Given the description of an element on the screen output the (x, y) to click on. 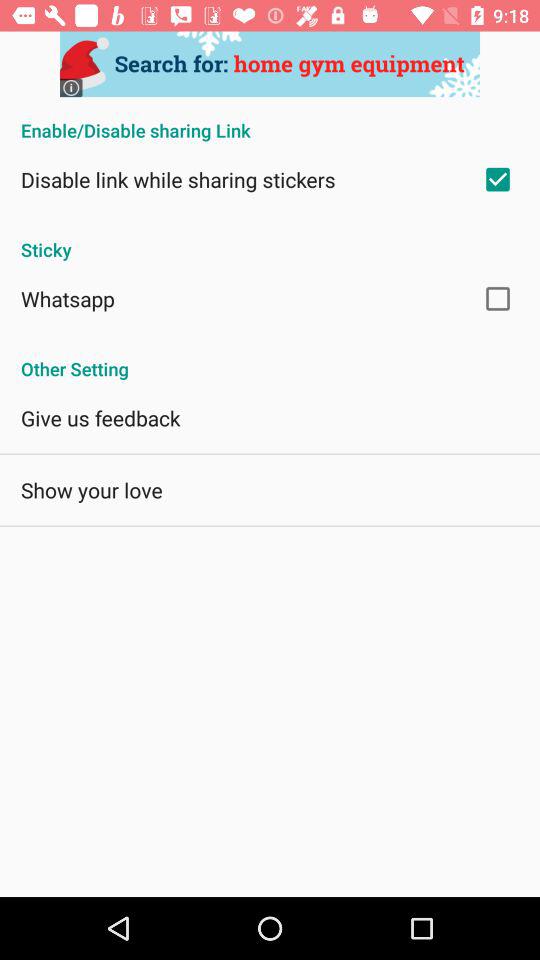
turn off the app above the show your love item (100, 417)
